Given the description of an element on the screen output the (x, y) to click on. 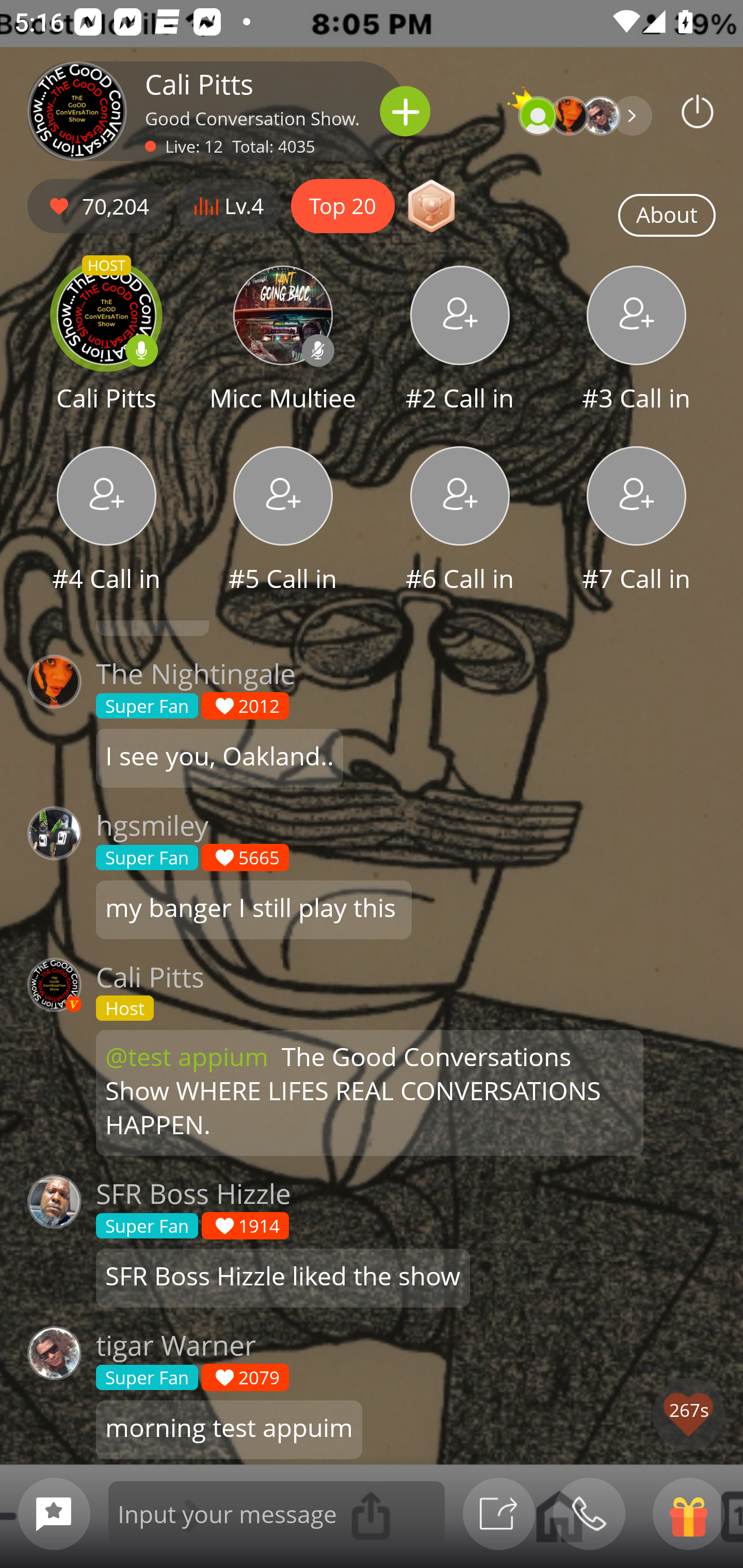
Podbean (697, 111)
About (666, 215)
HOST Cali Pitts (105, 340)
Micc Multiee (282, 340)
#2 Call in (459, 340)
#3 Call in (636, 340)
#4 Call in (105, 521)
#5 Call in (282, 521)
#6 Call in (459, 521)
#7 Call in (636, 521)
Input your message (276, 1513)
